Given the description of an element on the screen output the (x, y) to click on. 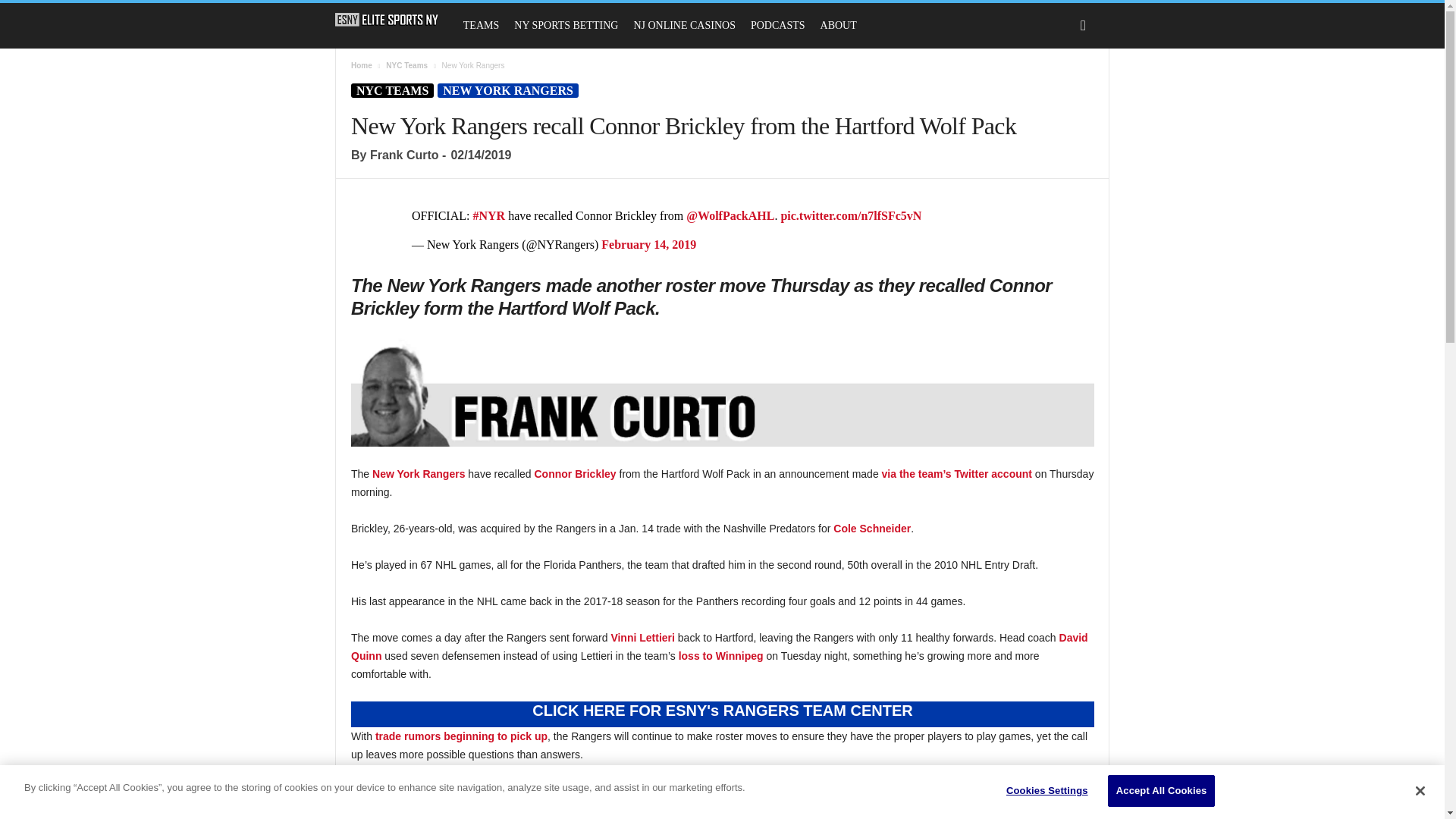
View all posts in NYC Teams (406, 65)
TEAMS (480, 25)
Elite Sports NY (386, 19)
Elite Sports NY (394, 19)
